Given the description of an element on the screen output the (x, y) to click on. 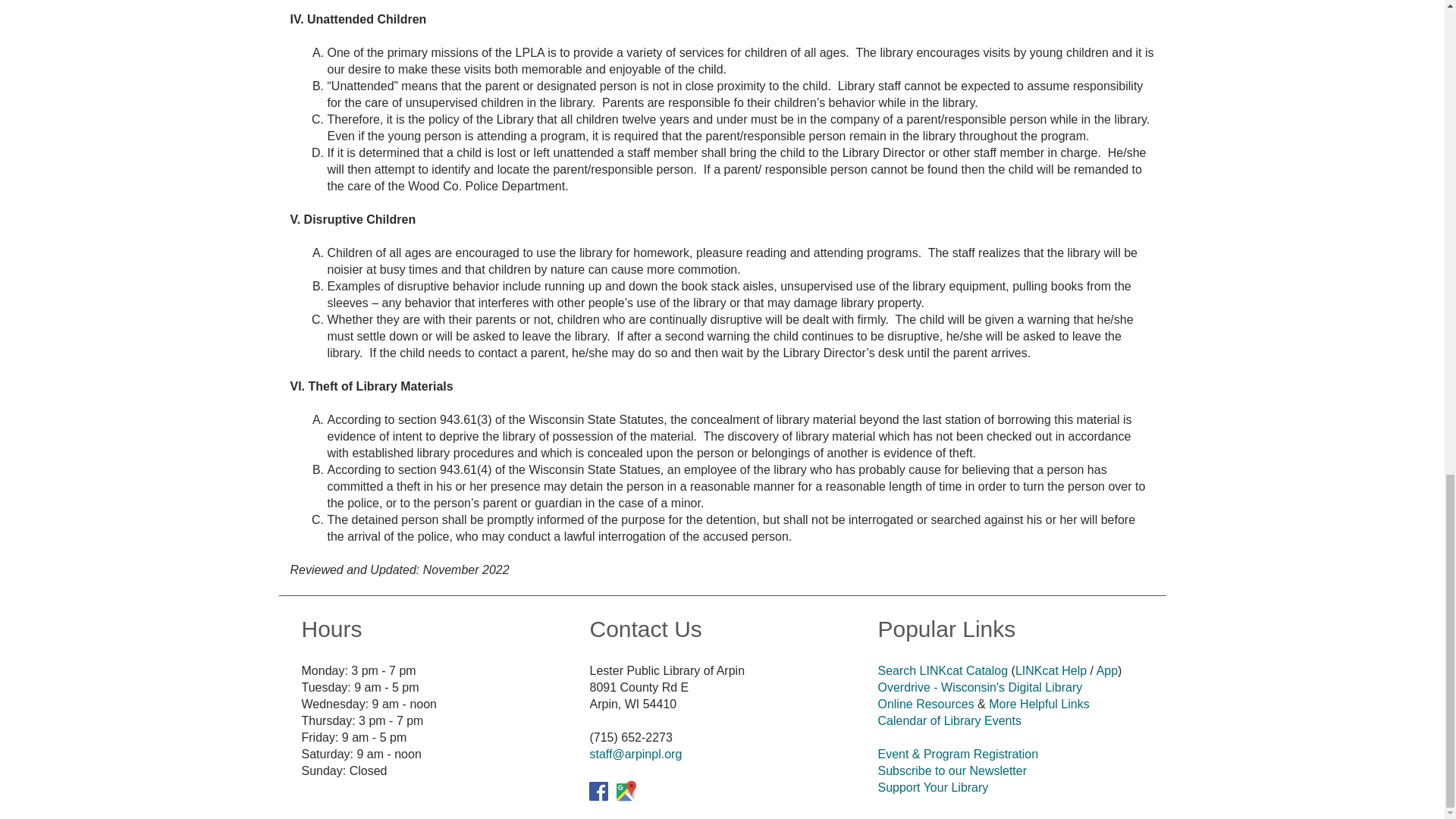
Search LINKcat Catalog (942, 669)
Online Resources (925, 703)
More Helpful Links (1038, 703)
LINKcat Help (1050, 669)
Overdrive - Wisconsin's Digital Library (979, 686)
App (1107, 669)
